Given the description of an element on the screen output the (x, y) to click on. 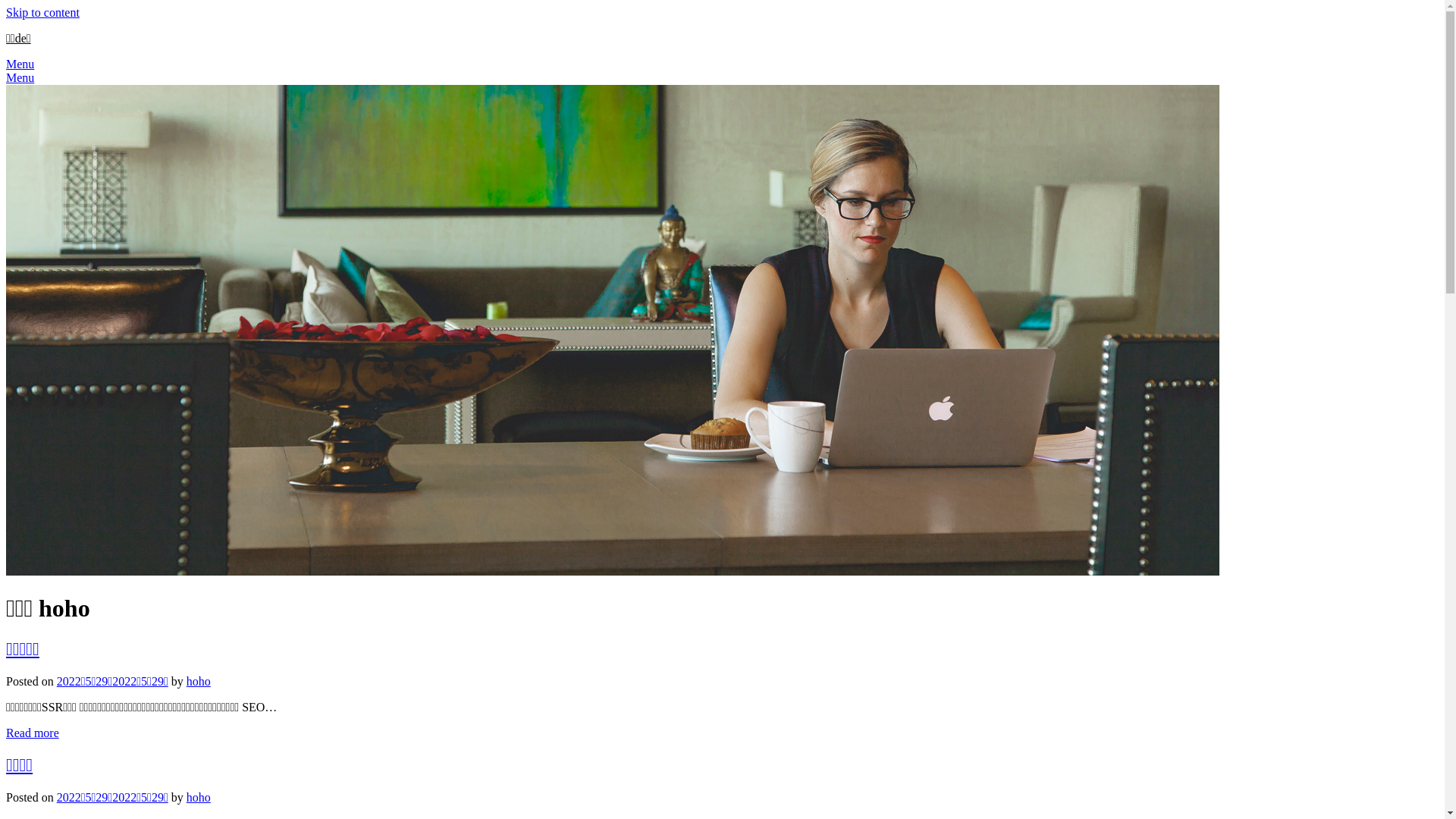
Read more Element type: text (32, 732)
Menu Element type: text (20, 63)
Skip to content Element type: text (42, 12)
hoho Element type: text (198, 796)
Menu Element type: text (20, 77)
hoho Element type: text (198, 680)
